Given the description of an element on the screen output the (x, y) to click on. 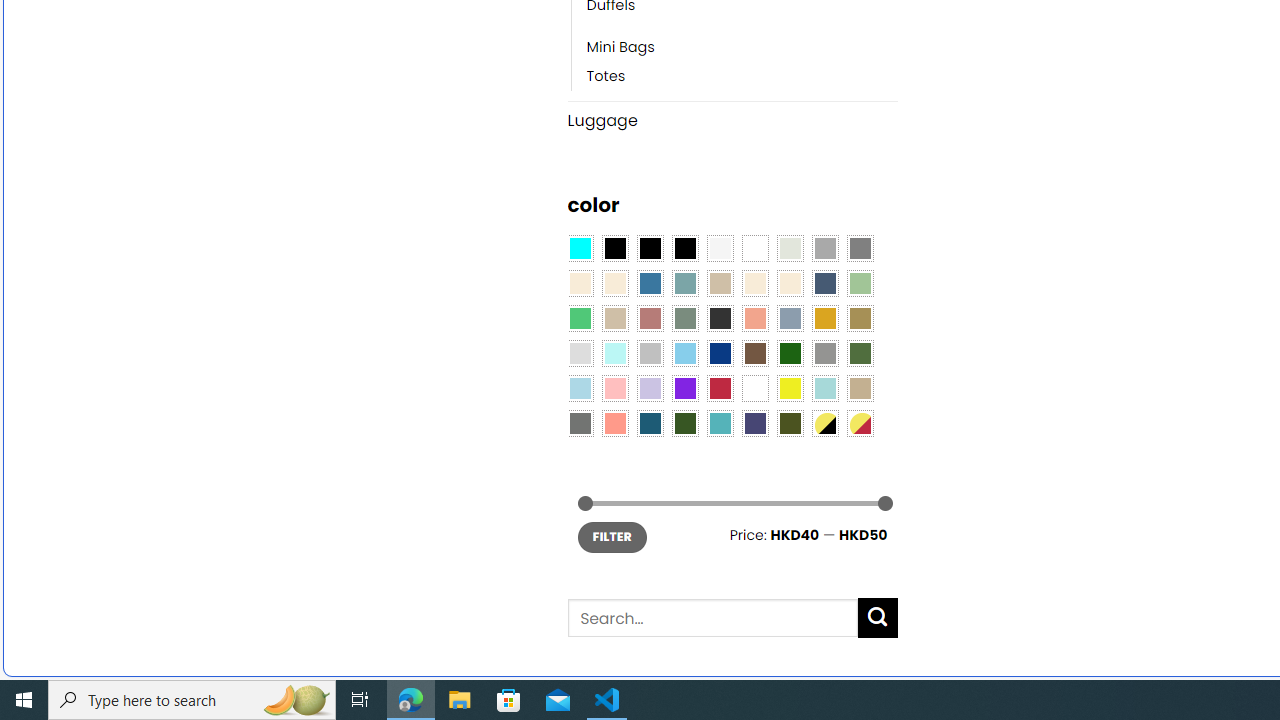
Mint (614, 354)
Blue Sage (684, 283)
Black (650, 249)
Yellow-Black (824, 424)
Peach Pink (614, 424)
Clear (755, 249)
Coral (755, 318)
Forest (684, 424)
Pink (614, 388)
Red (719, 388)
Cream (789, 283)
Dark Green (789, 354)
Gray (824, 354)
Yellow (789, 388)
Silver (650, 354)
